Given the description of an element on the screen output the (x, y) to click on. 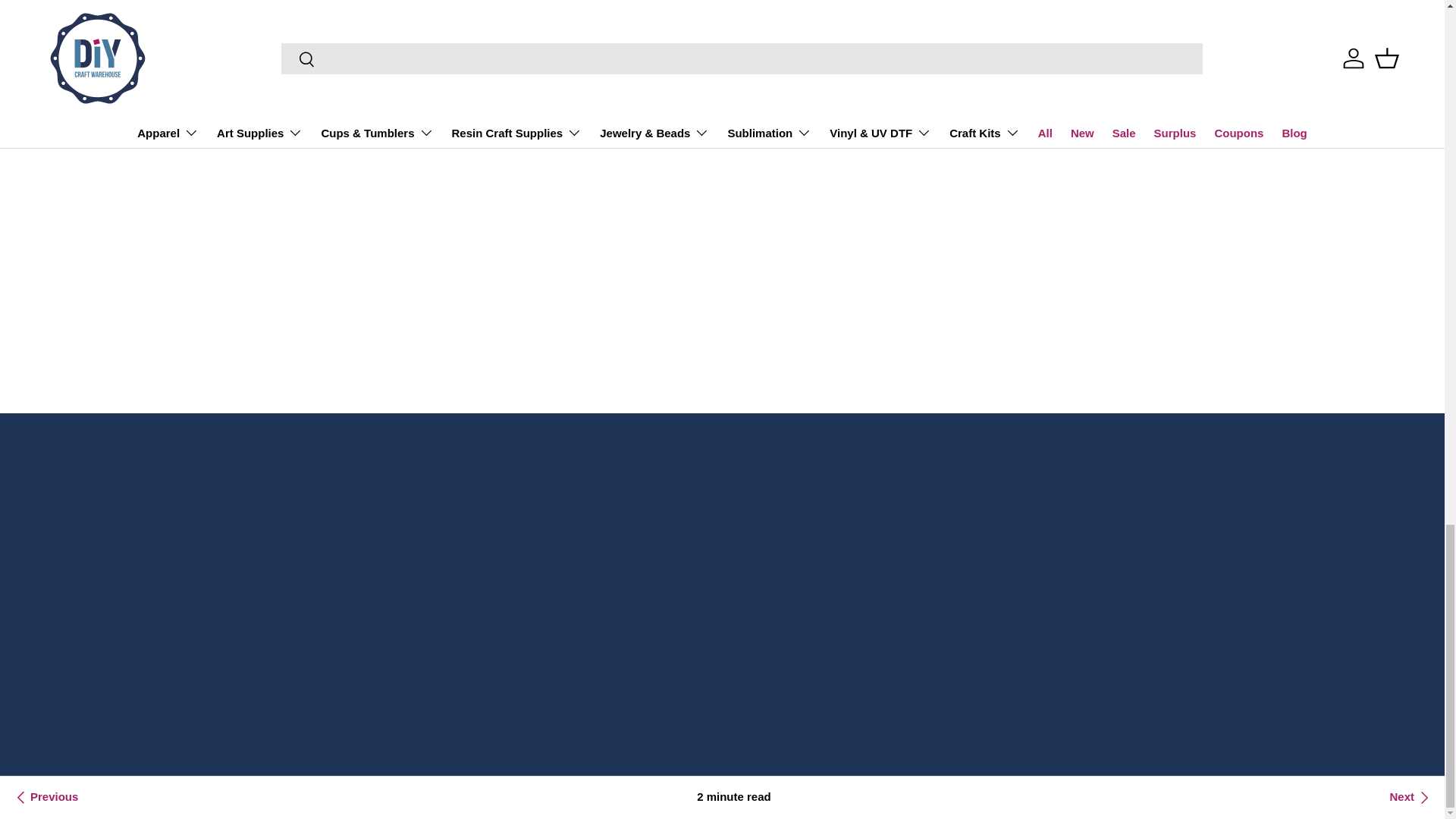
Share on Facebook (539, 132)
Pin on Pinterest (572, 132)
Tweet on X (505, 132)
